Given the description of an element on the screen output the (x, y) to click on. 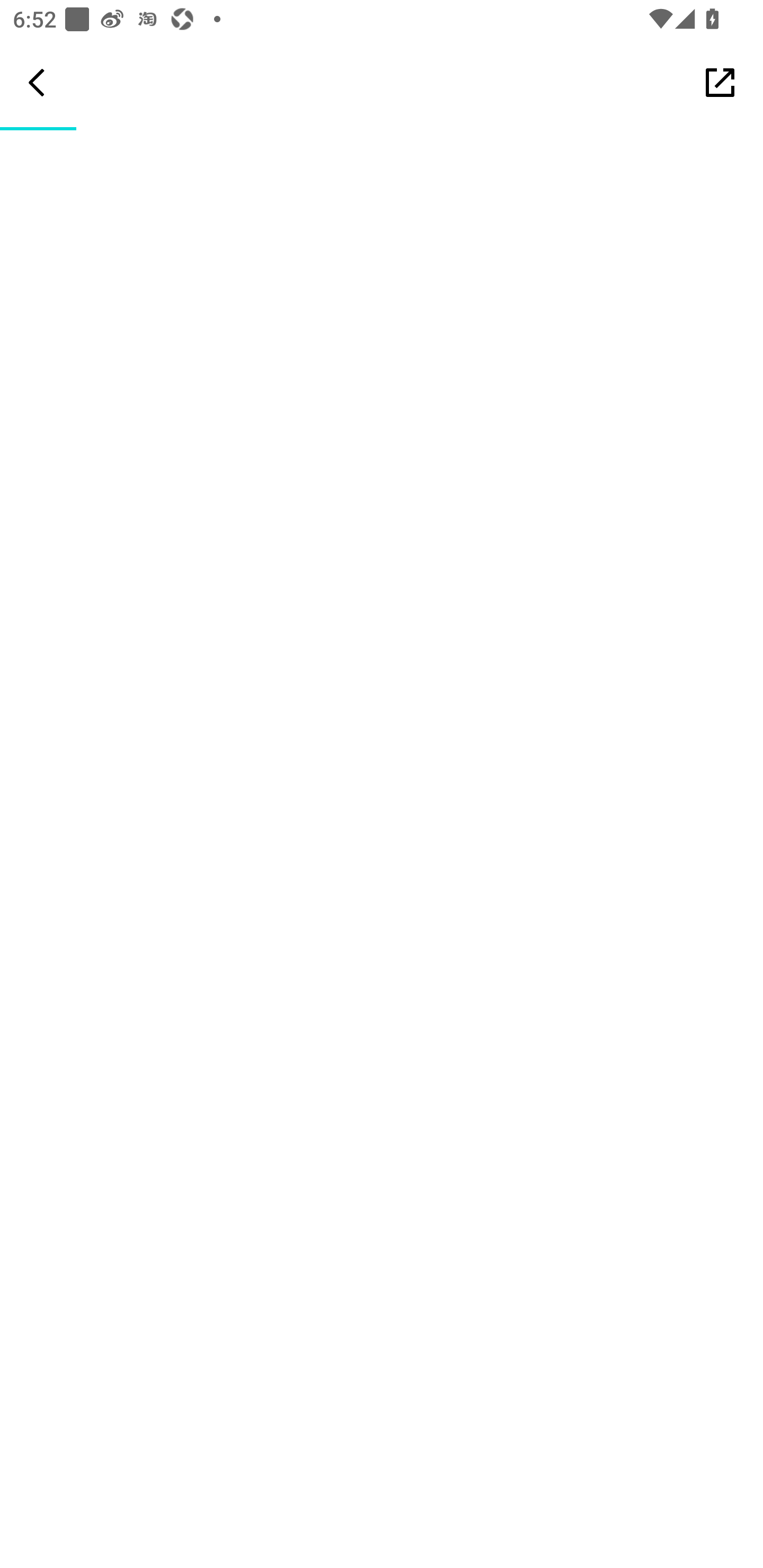
Navigate up (36, 82)
